Given the description of an element on the screen output the (x, y) to click on. 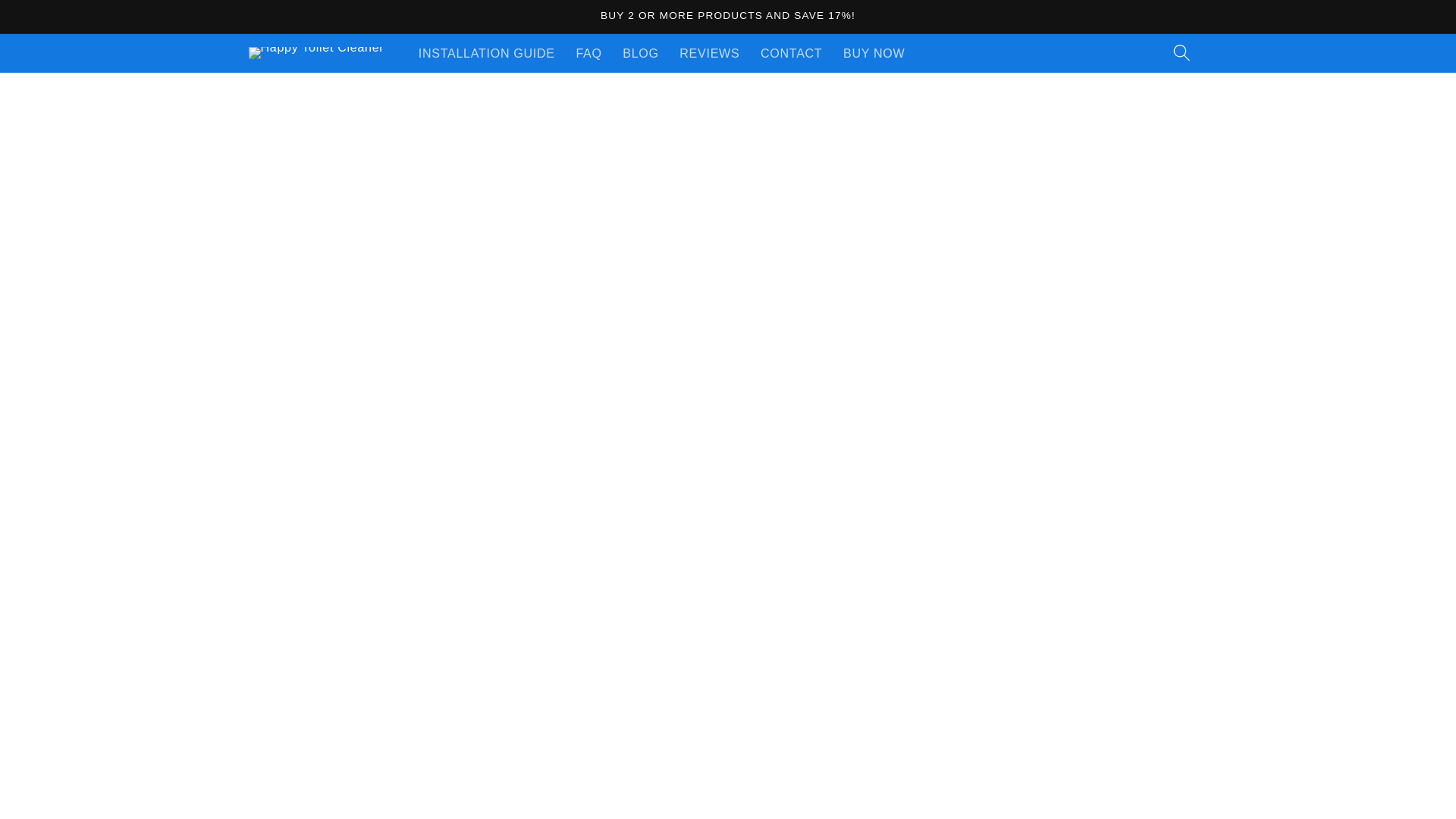
FAQ (589, 53)
REVIEWS (710, 53)
INSTALLATION GUIDE (486, 53)
CONTACT (790, 53)
BUY NOW (873, 53)
Skip to content (52, 20)
BLOG (639, 53)
